Given the description of an element on the screen output the (x, y) to click on. 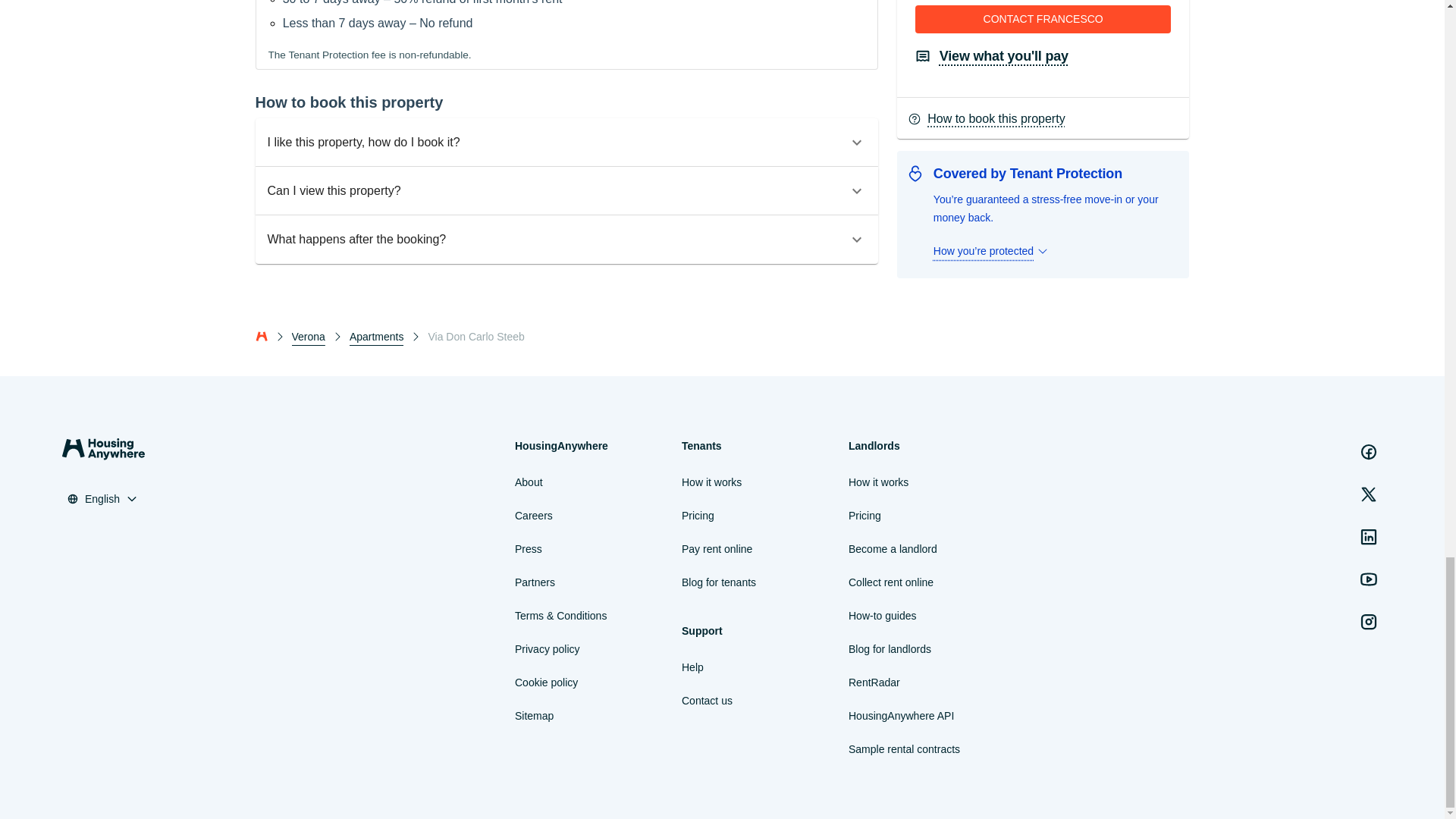
twitter (1369, 494)
Sitemap (534, 715)
linkedin (1369, 536)
Careers (534, 515)
youtube (1369, 579)
Partners (534, 582)
facebook (1369, 451)
Cookie policy (546, 682)
Verona (307, 336)
instagram (1369, 621)
